Given the description of an element on the screen output the (x, y) to click on. 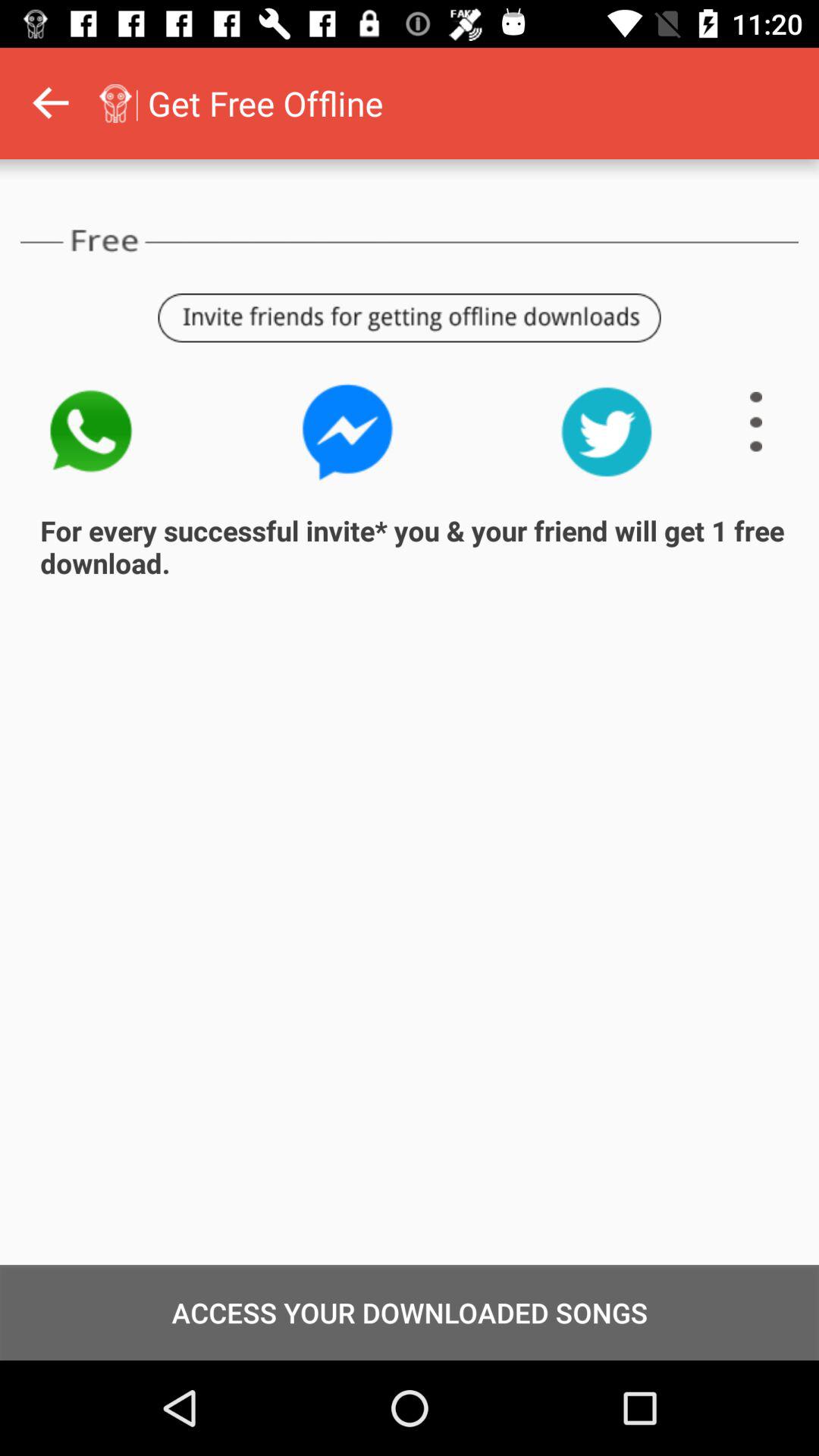
do a call (89, 431)
